Given the description of an element on the screen output the (x, y) to click on. 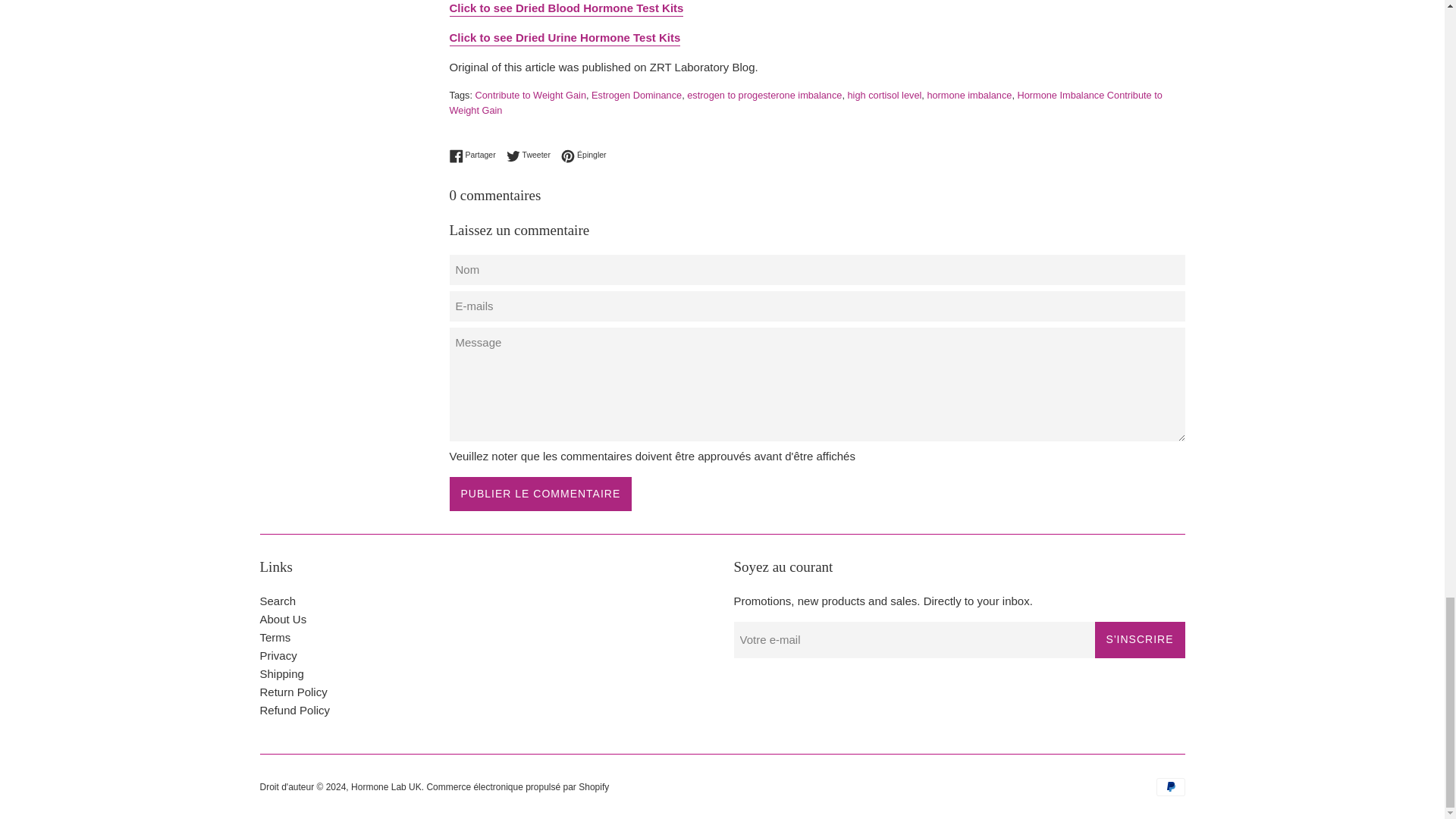
Estrogen Dominance (636, 94)
hormone imbalance (968, 94)
Publier le commentaire (539, 493)
PayPal (1170, 787)
Click to see Dried Blood Hormone Test Kits (565, 8)
Tweeter sur Twitter (531, 155)
high cortisol level (884, 94)
Dried Urine Hormone Test Kit (563, 37)
Dried Blood Hormone Test Kits (565, 8)
Contribute to Weight Gain (531, 94)
Click to see Dried Urine Hormone Test Kits (563, 37)
Partager sur Facebook (475, 155)
estrogen to progesterone imbalance (764, 94)
